Given the description of an element on the screen output the (x, y) to click on. 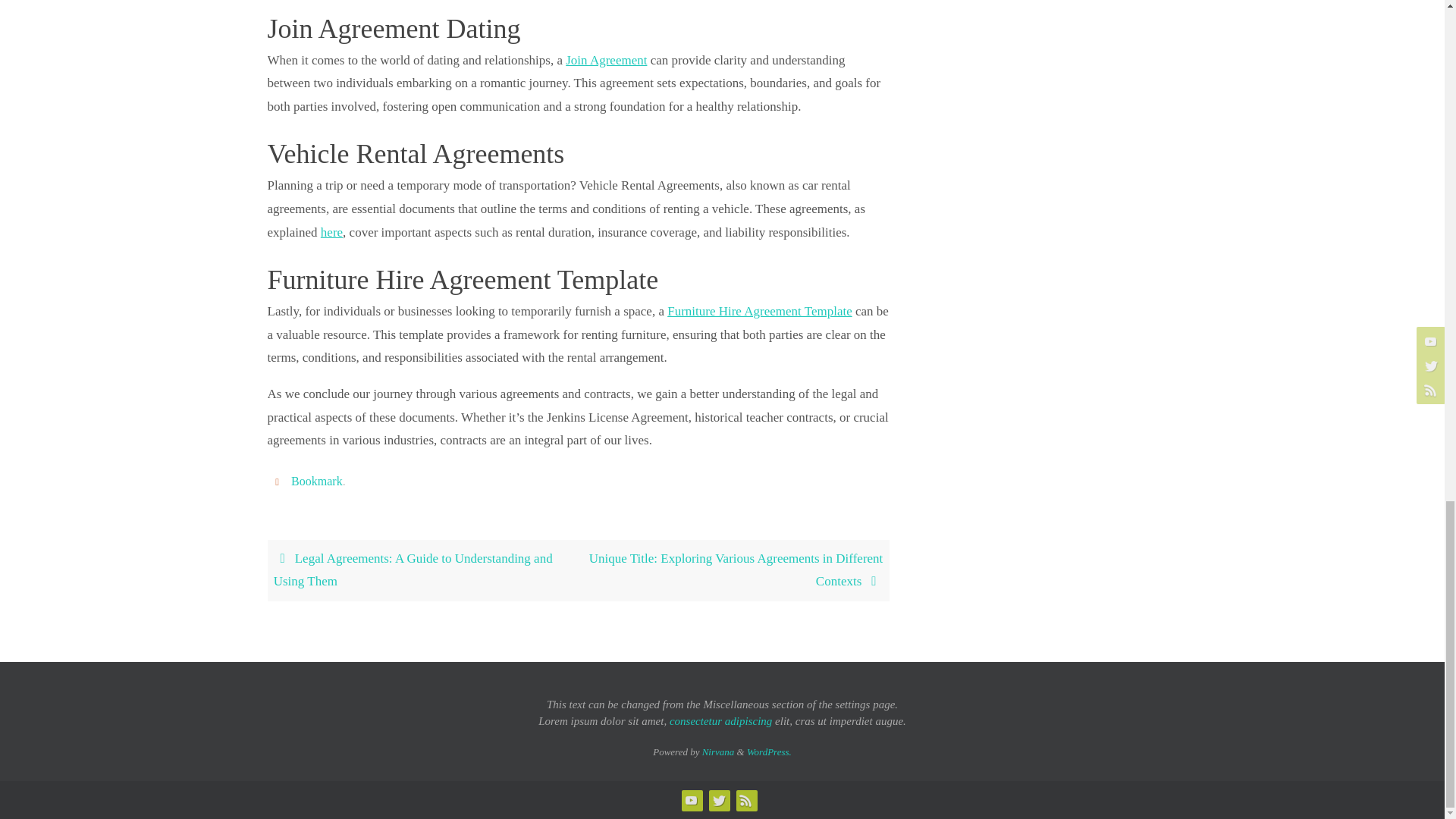
Permalink to Agreements (316, 481)
Legal Agreements: A Guide to Understanding and Using Them (422, 570)
 Bookmark the permalink (278, 481)
Join Agreement (606, 60)
Bookmark (316, 481)
here (331, 232)
Furniture Hire Agreement Template (758, 310)
